Given the description of an element on the screen output the (x, y) to click on. 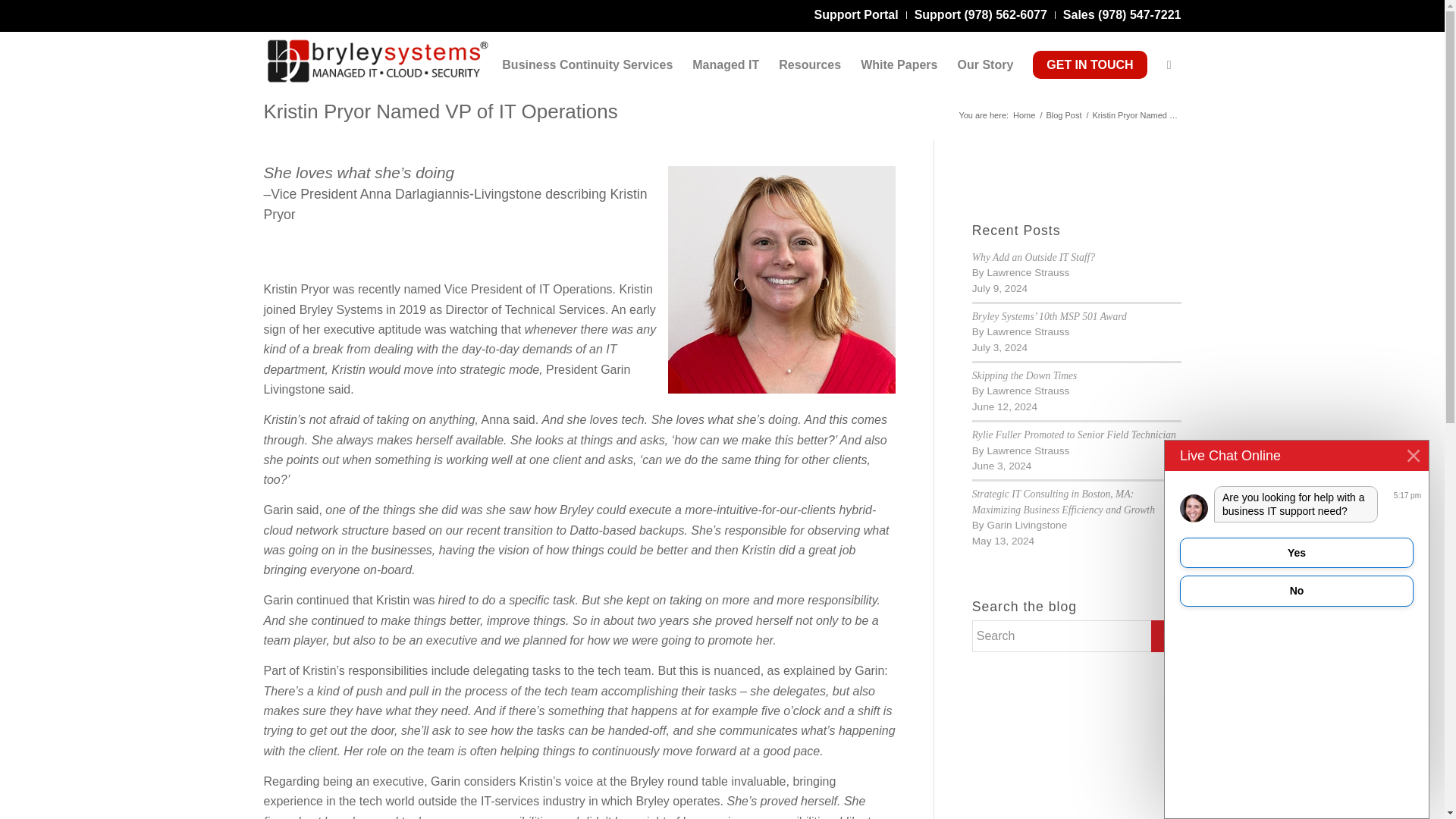
Bryley Systems Inc. (1023, 115)
Our Story (985, 65)
White Papers (898, 65)
Support Portal (855, 14)
Business Continuity Services (587, 65)
Managed IT (725, 65)
Resources (809, 65)
Permanent Link: Kristin Pryor Named VP of IT Operations (440, 110)
